Given the description of an element on the screen output the (x, y) to click on. 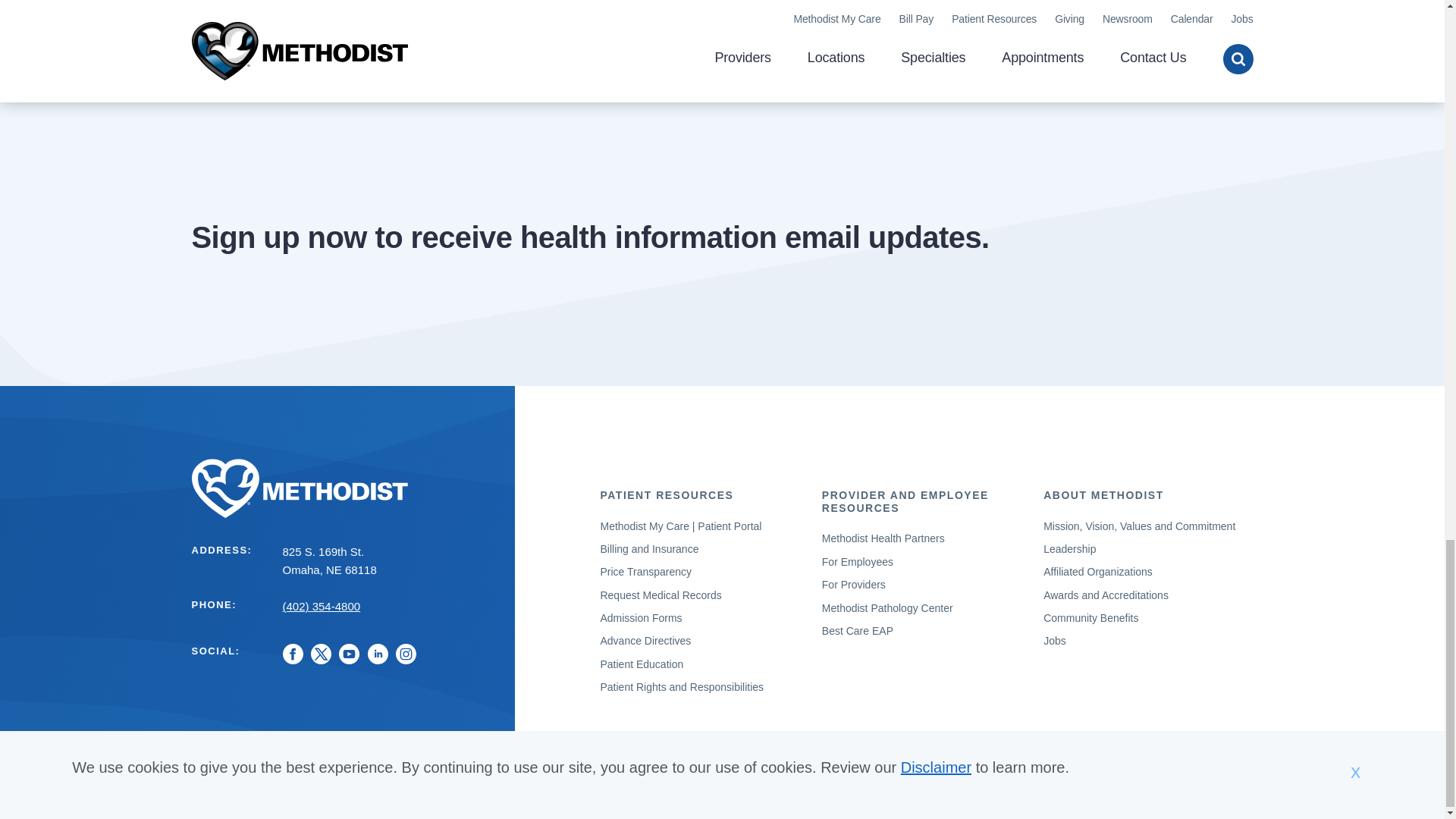
Methodist Health System (343, 488)
Home (343, 488)
